Given the description of an element on the screen output the (x, y) to click on. 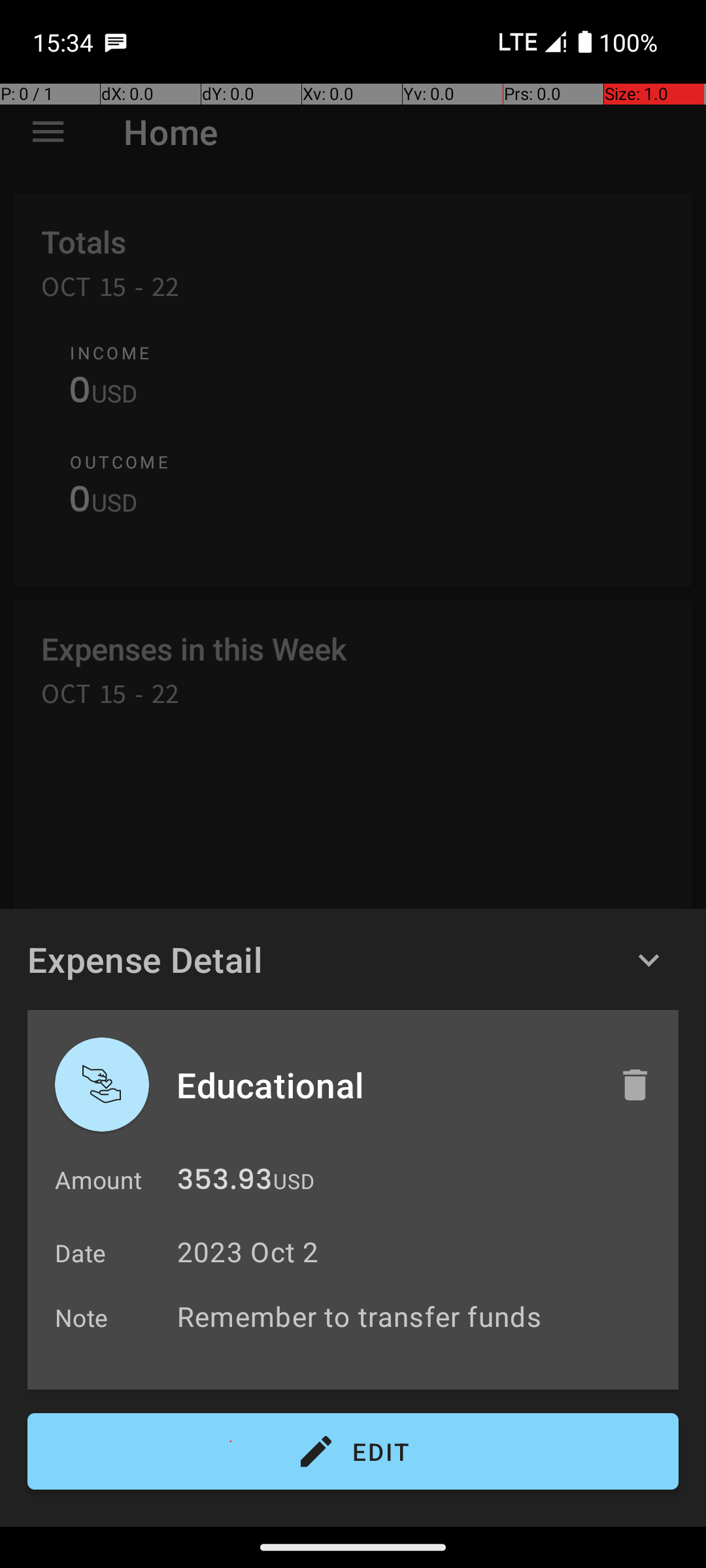
Educational Element type: android.widget.TextView (383, 1084)
353.93 Element type: android.widget.TextView (224, 1182)
2023 Oct 2 Element type: android.widget.TextView (247, 1251)
